Given the description of an element on the screen output the (x, y) to click on. 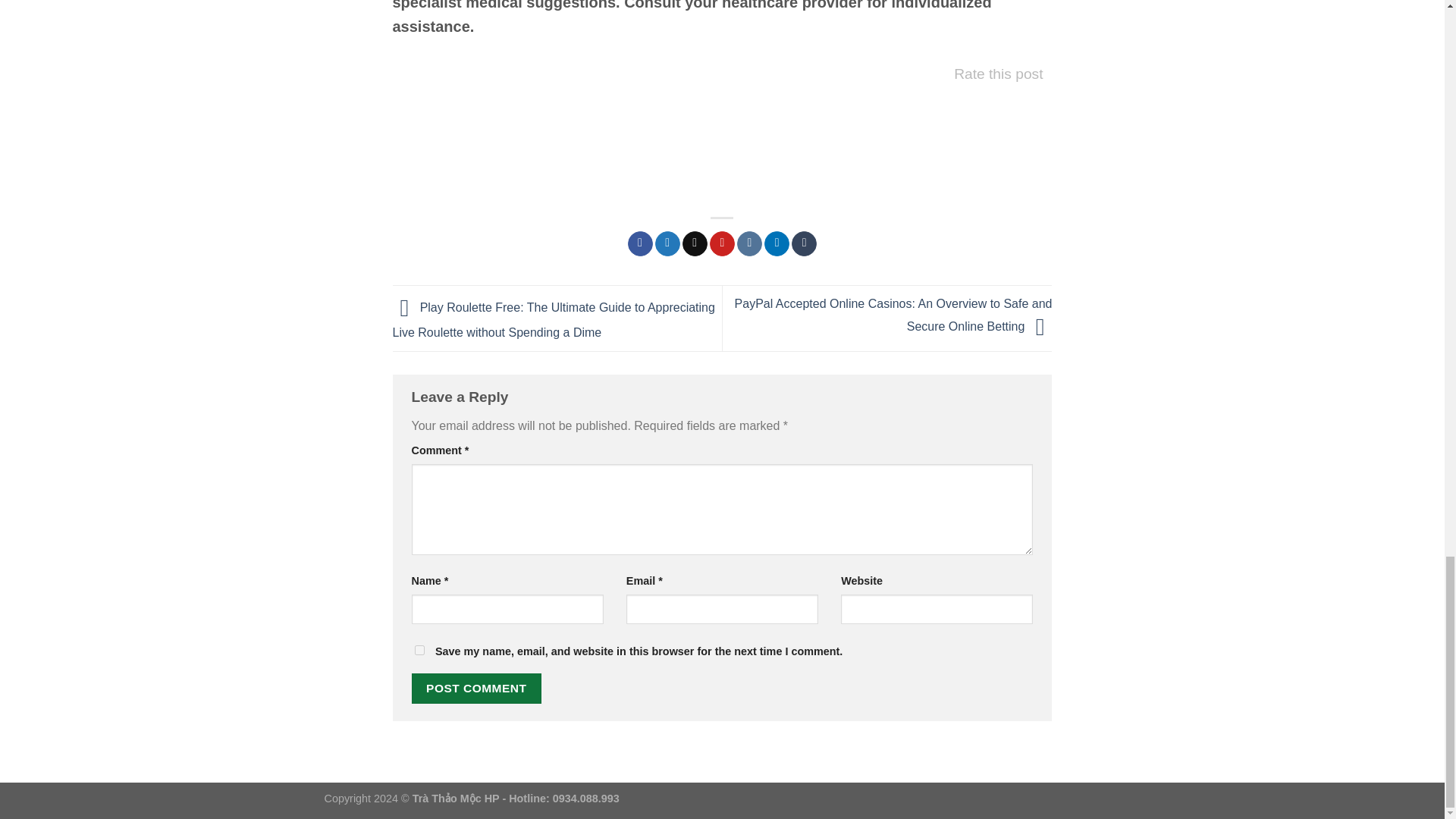
Email to a Friend (694, 243)
Pin on Pinterest (722, 243)
Share on LinkedIn (776, 243)
Share on VKontakte (748, 243)
Share on Twitter (667, 243)
Post Comment (475, 687)
Post Comment (475, 687)
yes (418, 650)
Share on Facebook (639, 243)
